Given the description of an element on the screen output the (x, y) to click on. 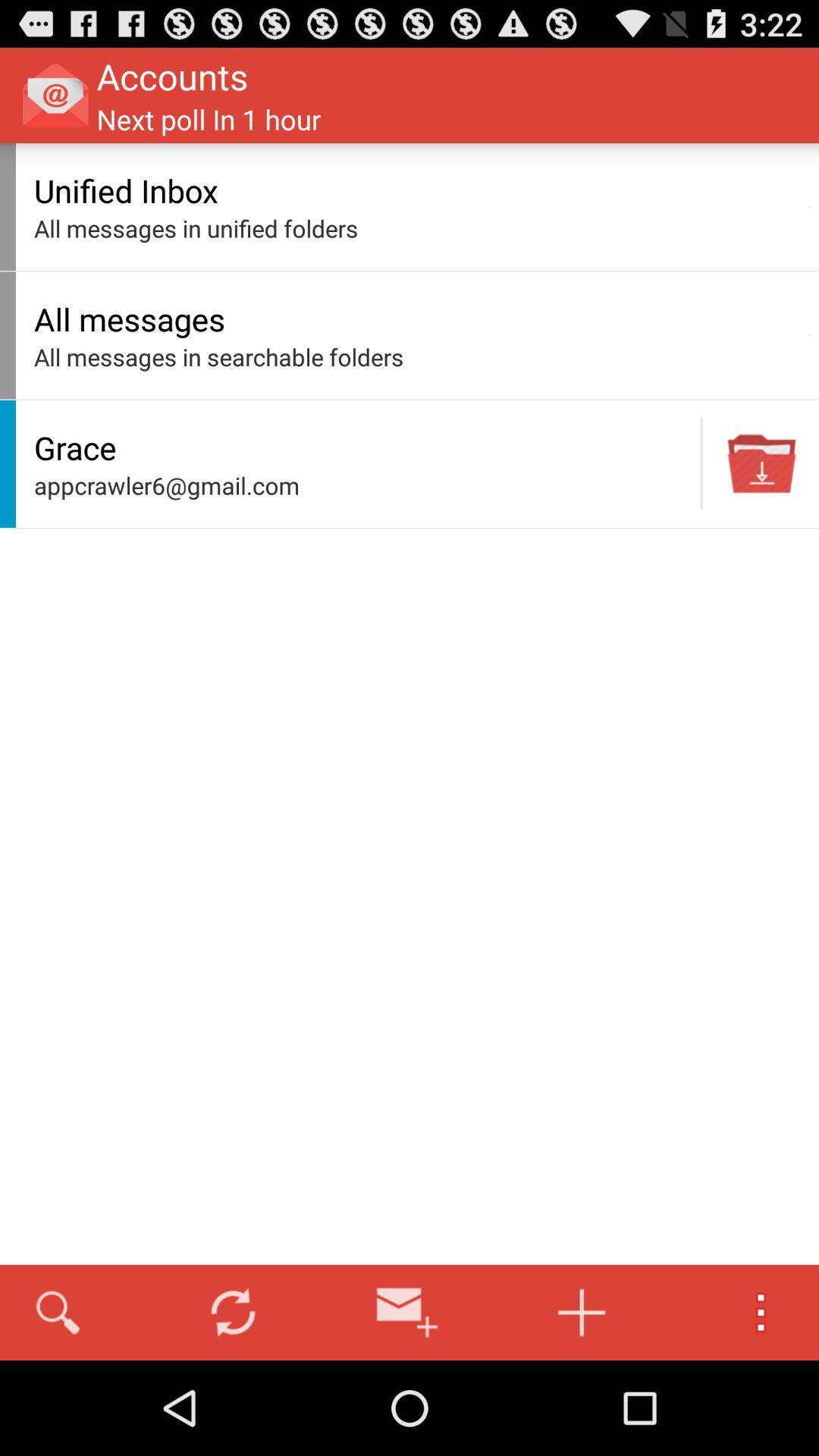
swipe to grace item (363, 447)
